Given the description of an element on the screen output the (x, y) to click on. 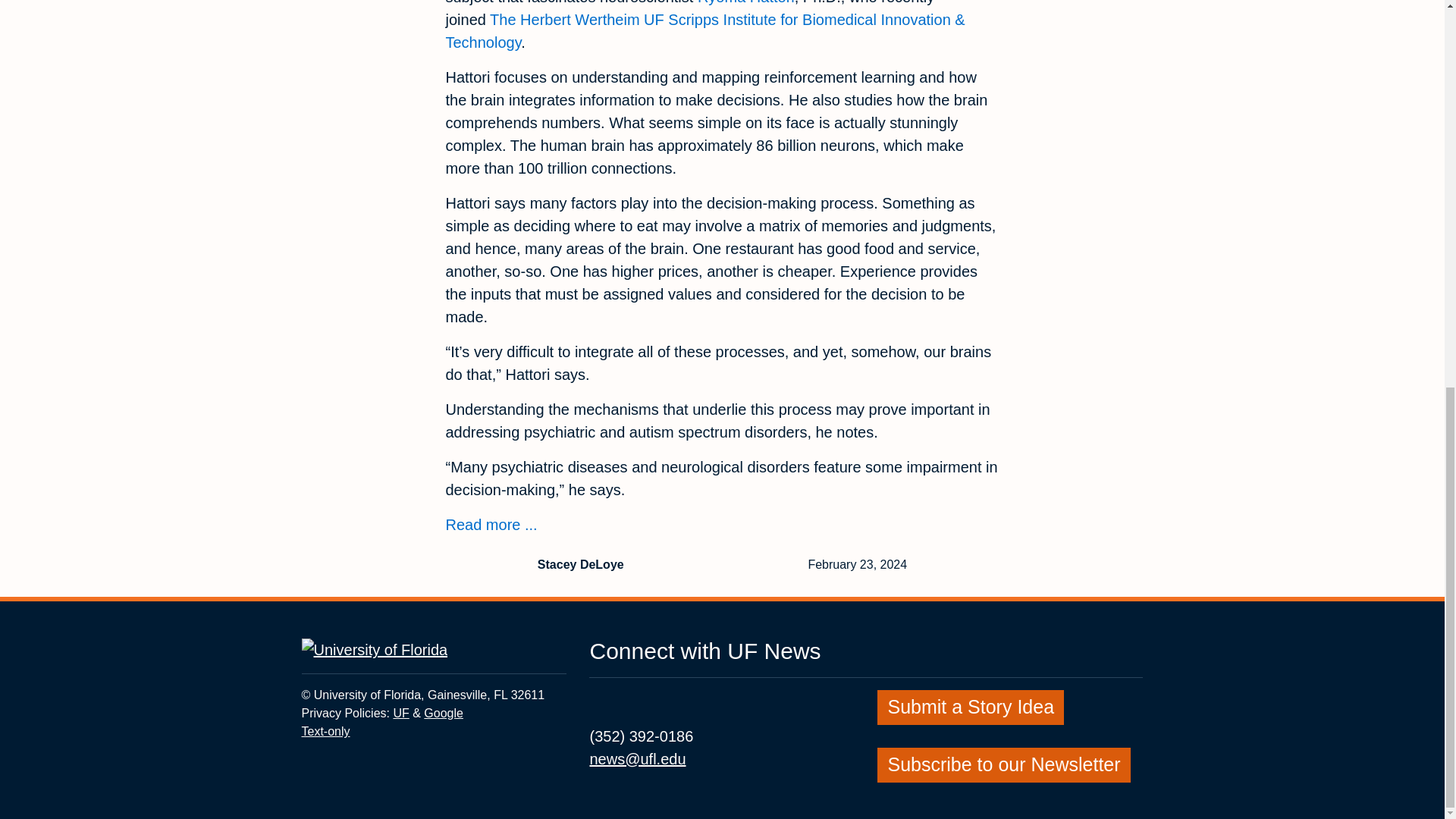
Read more ... (401, 712)
Submit a Story Idea (491, 524)
Ryoma Hattori (970, 705)
Subscribe to our Newsletter (443, 712)
Text-only (745, 2)
